Given the description of an element on the screen output the (x, y) to click on. 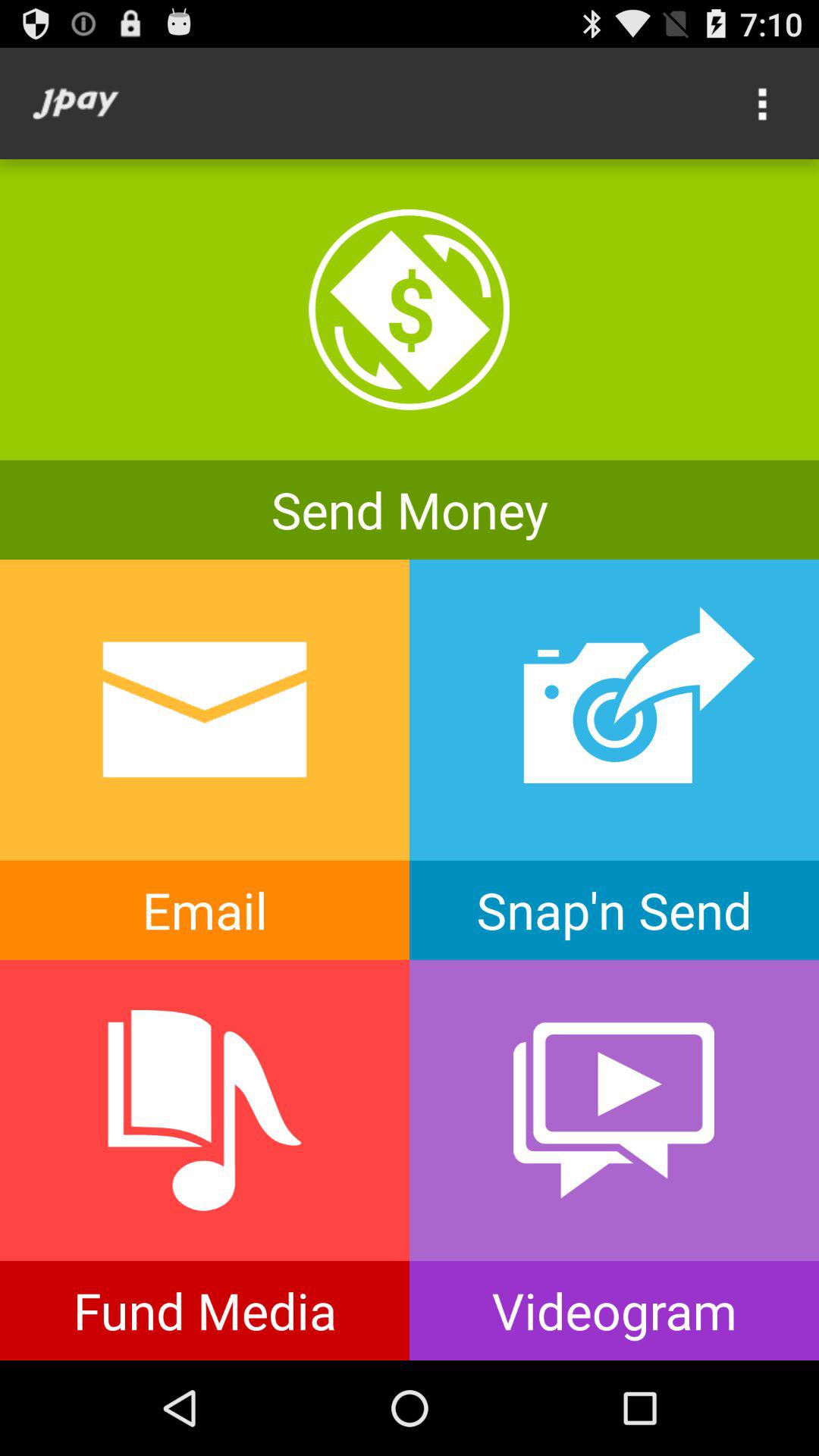
transfer money for media (204, 1160)
